Given the description of an element on the screen output the (x, y) to click on. 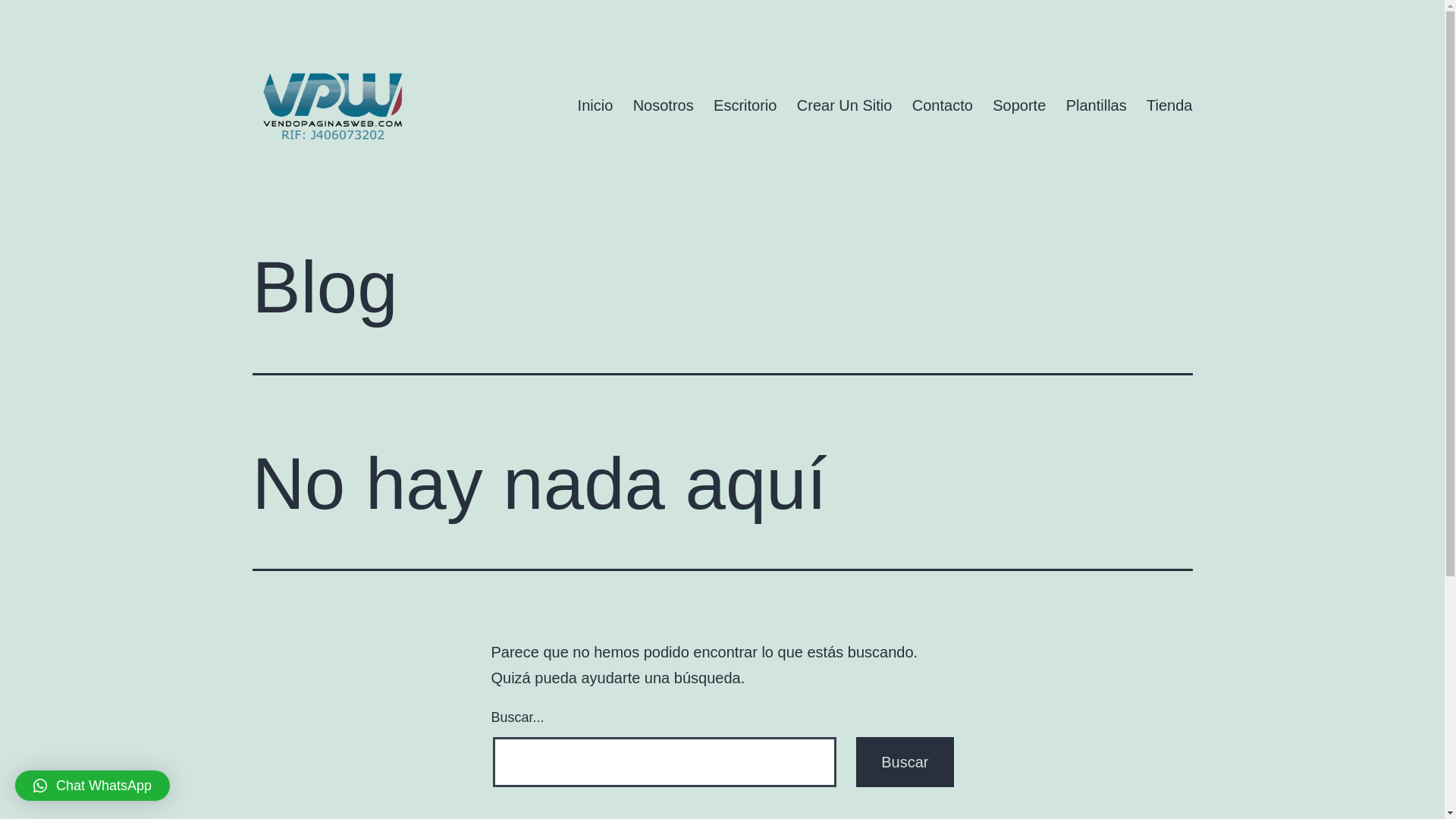
Inicio Element type: text (594, 104)
Nosotros Element type: text (662, 104)
Contacto Element type: text (942, 104)
Tienda Element type: text (1169, 104)
Buscar Element type: text (904, 762)
Escritorio Element type: text (745, 104)
Soporte Element type: text (1018, 104)
Plantillas Element type: text (1095, 104)
Chat WhatsApp Element type: text (92, 785)
Crear Un Sitio Element type: text (844, 104)
